Given the description of an element on the screen output the (x, y) to click on. 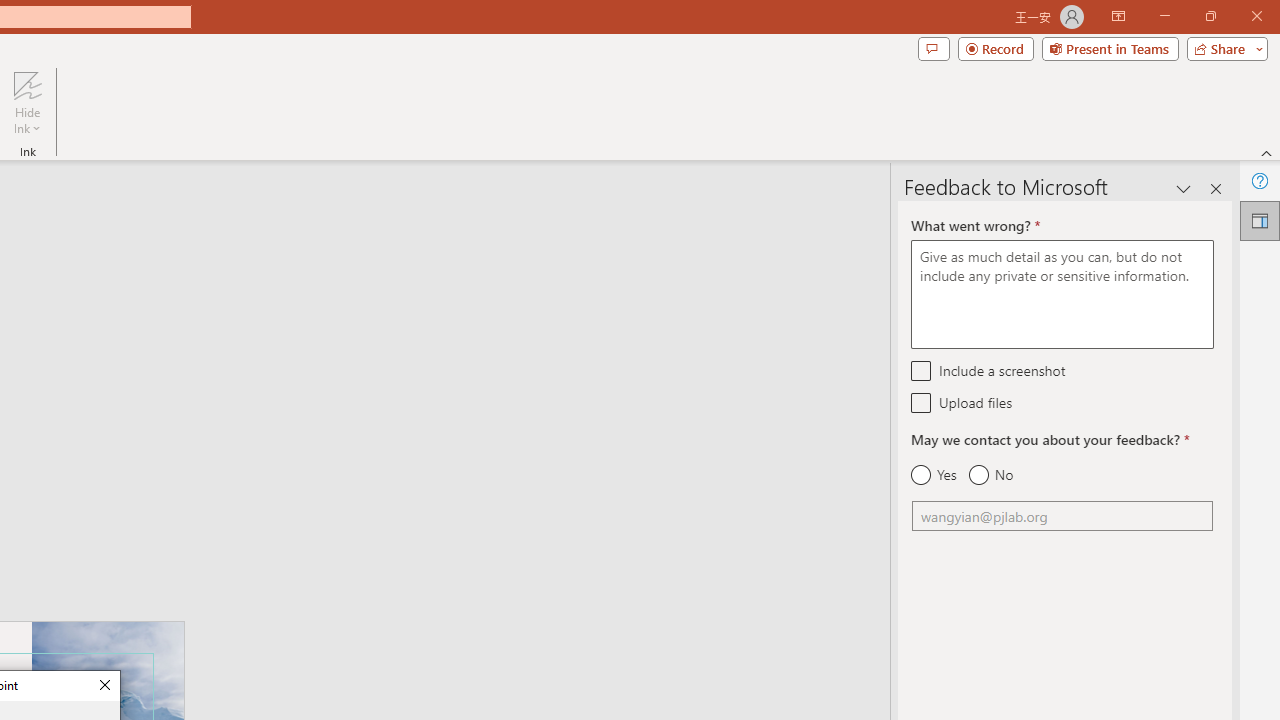
Hide Ink (27, 102)
No (990, 475)
Email (1062, 516)
